Given the description of an element on the screen output the (x, y) to click on. 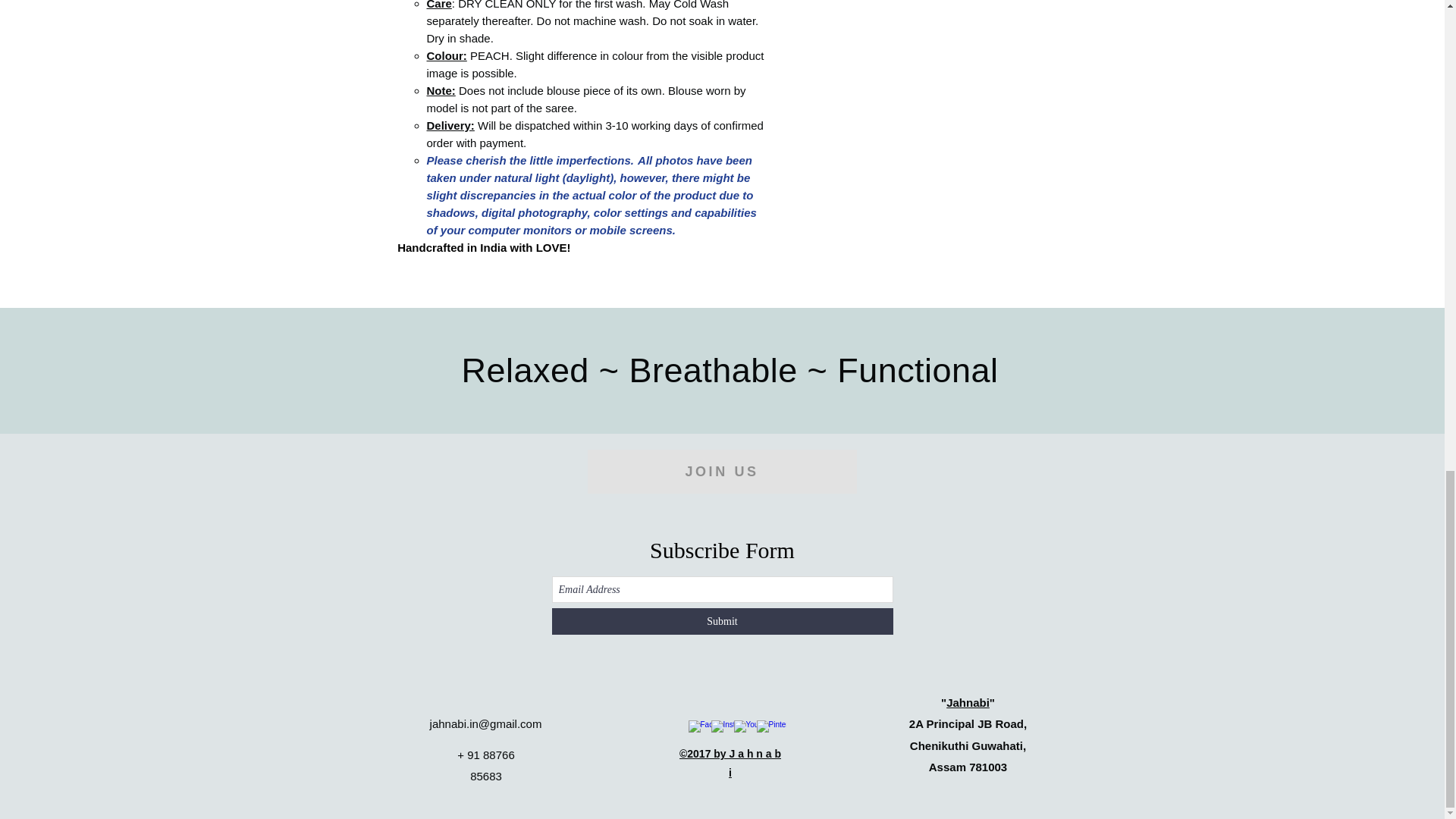
JOIN US (721, 471)
Submit (722, 621)
